Given the description of an element on the screen output the (x, y) to click on. 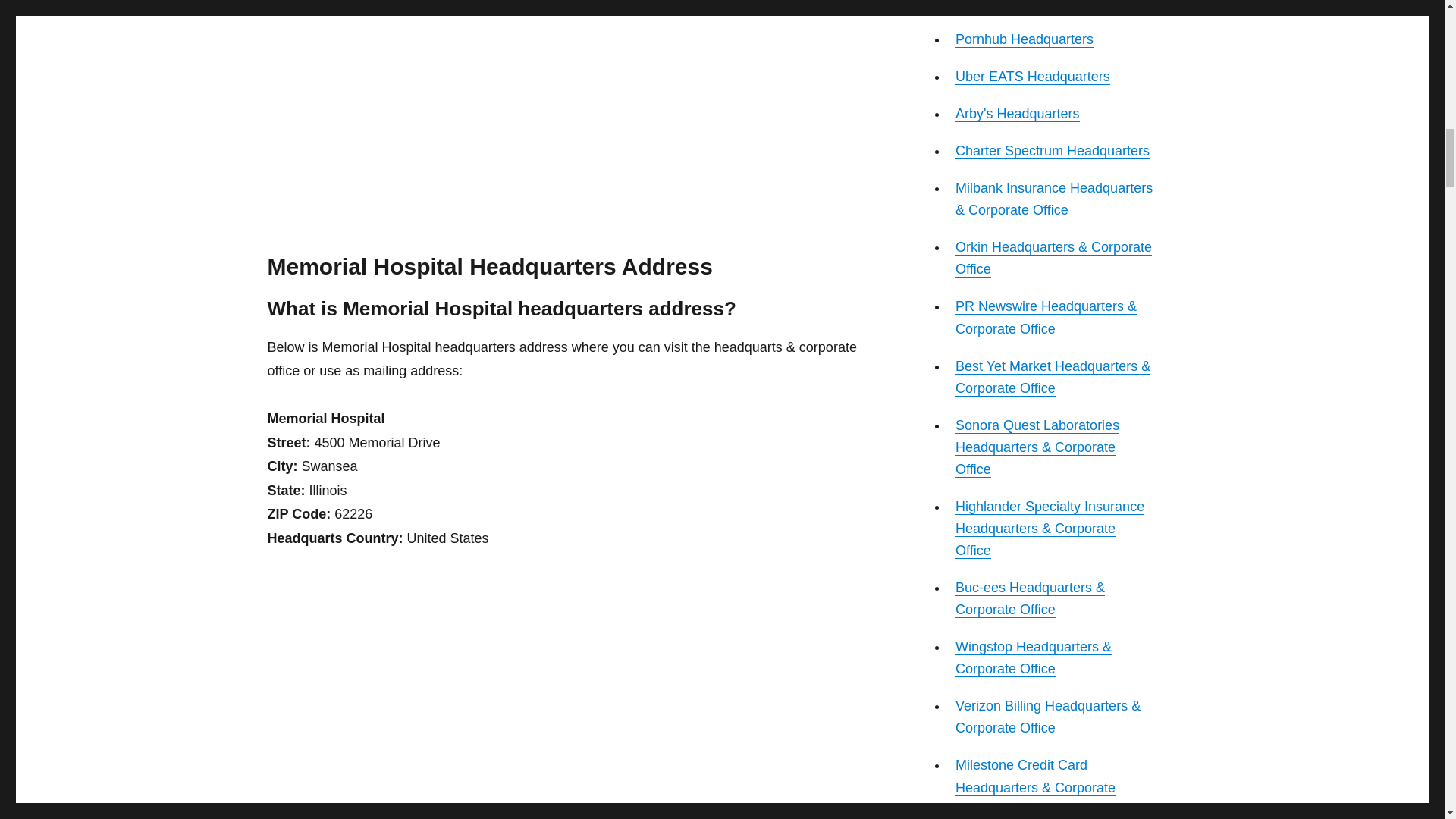
Pornhub Headquarters (1024, 38)
Uber EATS Headquarters (1032, 76)
Charter Spectrum Headquarters (1052, 150)
Arby's Headquarters (1017, 113)
Dominos Headquarters (1025, 4)
